Given the description of an element on the screen output the (x, y) to click on. 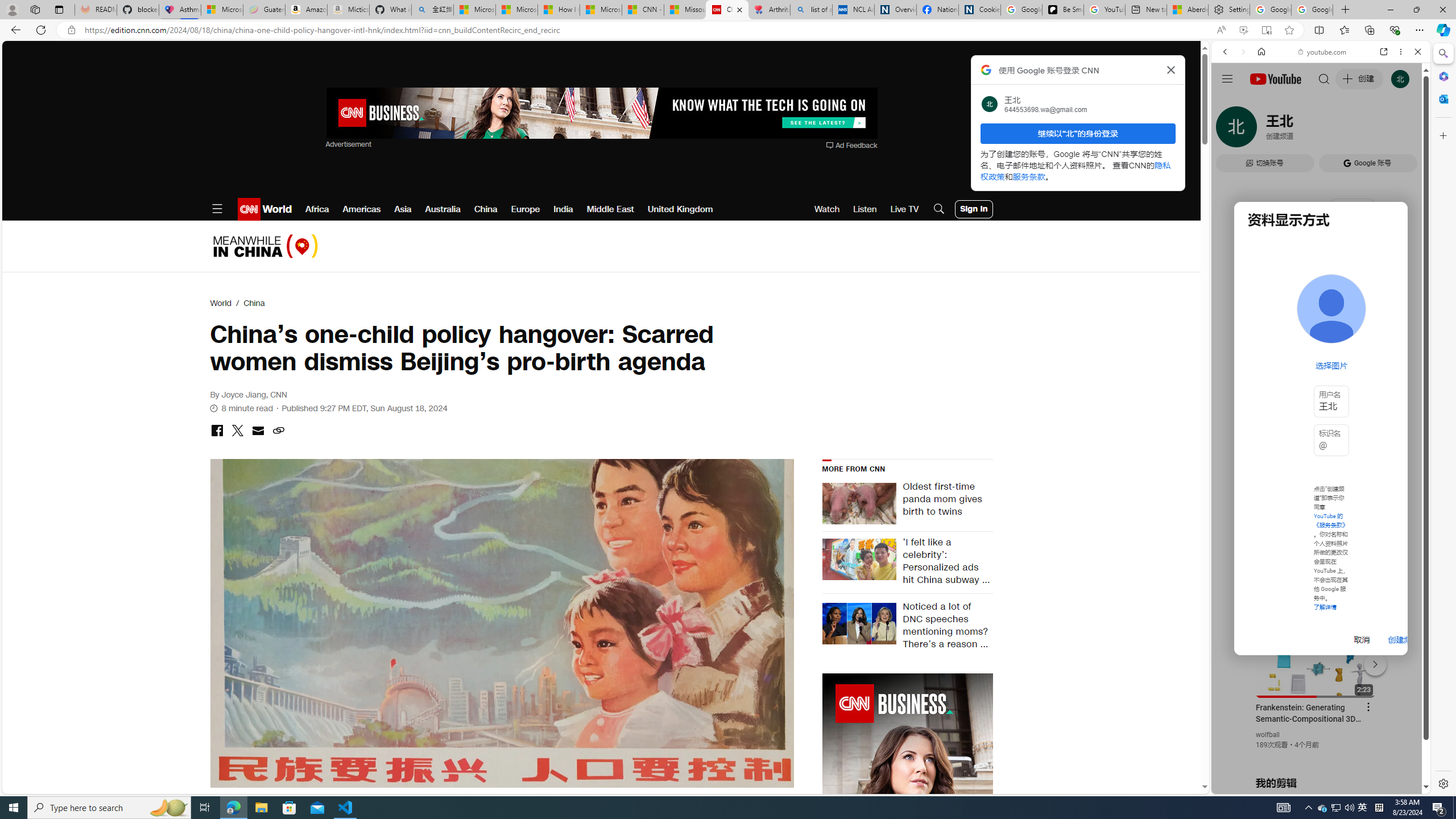
Class: icon-social-email-fill (257, 430)
share with email (257, 431)
Africa (317, 209)
NCL Adult Asthma Inhaler Choice Guideline (853, 9)
China (253, 303)
